Given the description of an element on the screen output the (x, y) to click on. 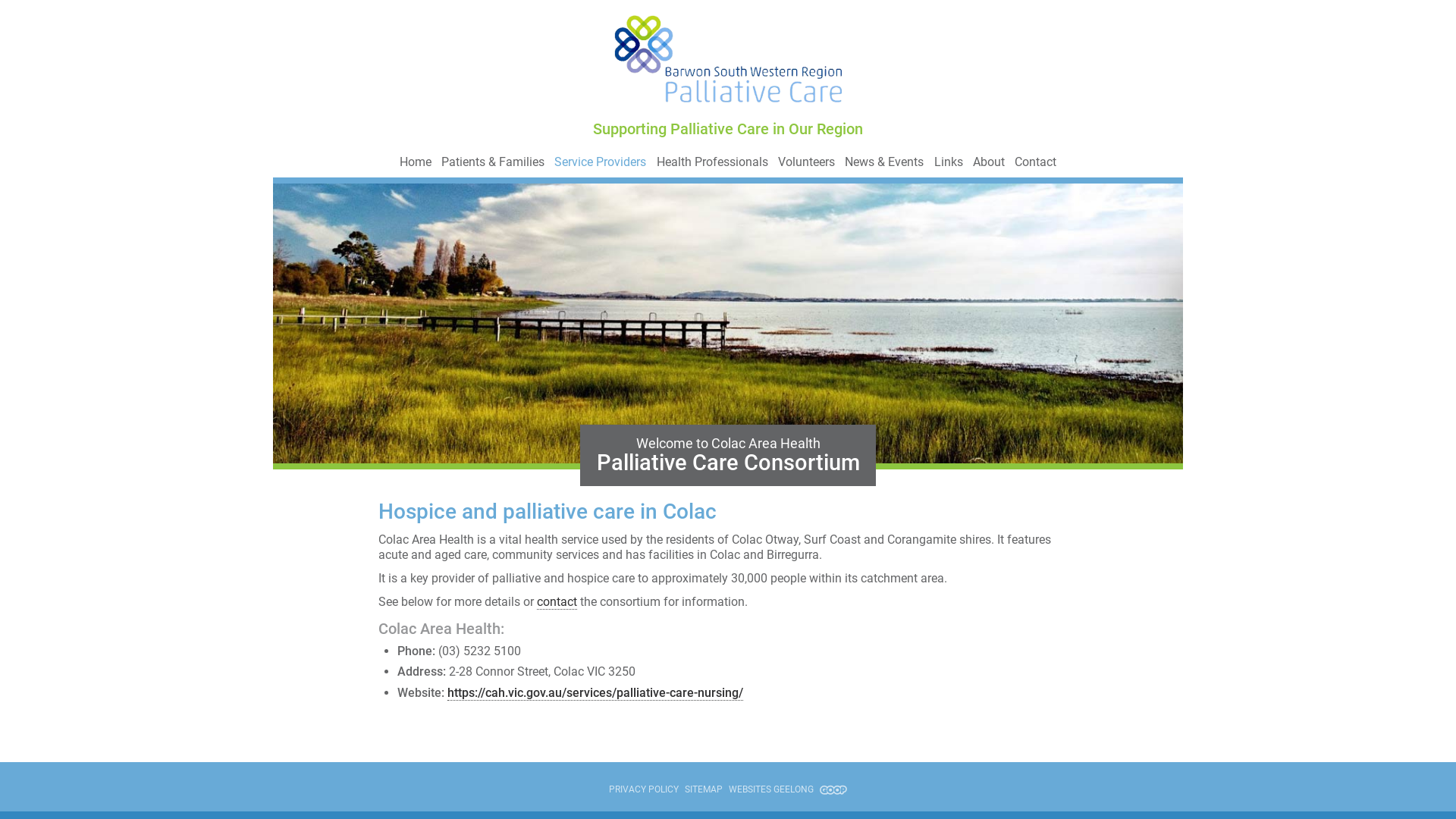
contact Element type: text (556, 601)
Service Providers Element type: text (600, 162)
Home Element type: text (415, 162)
About Element type: text (988, 162)
Links Element type: text (948, 162)
Patients & Families Element type: text (492, 162)
News & Events Element type: text (883, 162)
PRIVACY POLICY Element type: text (643, 789)
Health Professionals Element type: text (712, 162)
Volunteers Element type: text (806, 162)
WEBSITES GEELONG Element type: text (787, 789)
https://cah.vic.gov.au/services/palliative-care-nursing/ Element type: text (595, 692)
SITEMAP Element type: text (703, 789)
Contact Element type: text (1035, 162)
